Given the description of an element on the screen output the (x, y) to click on. 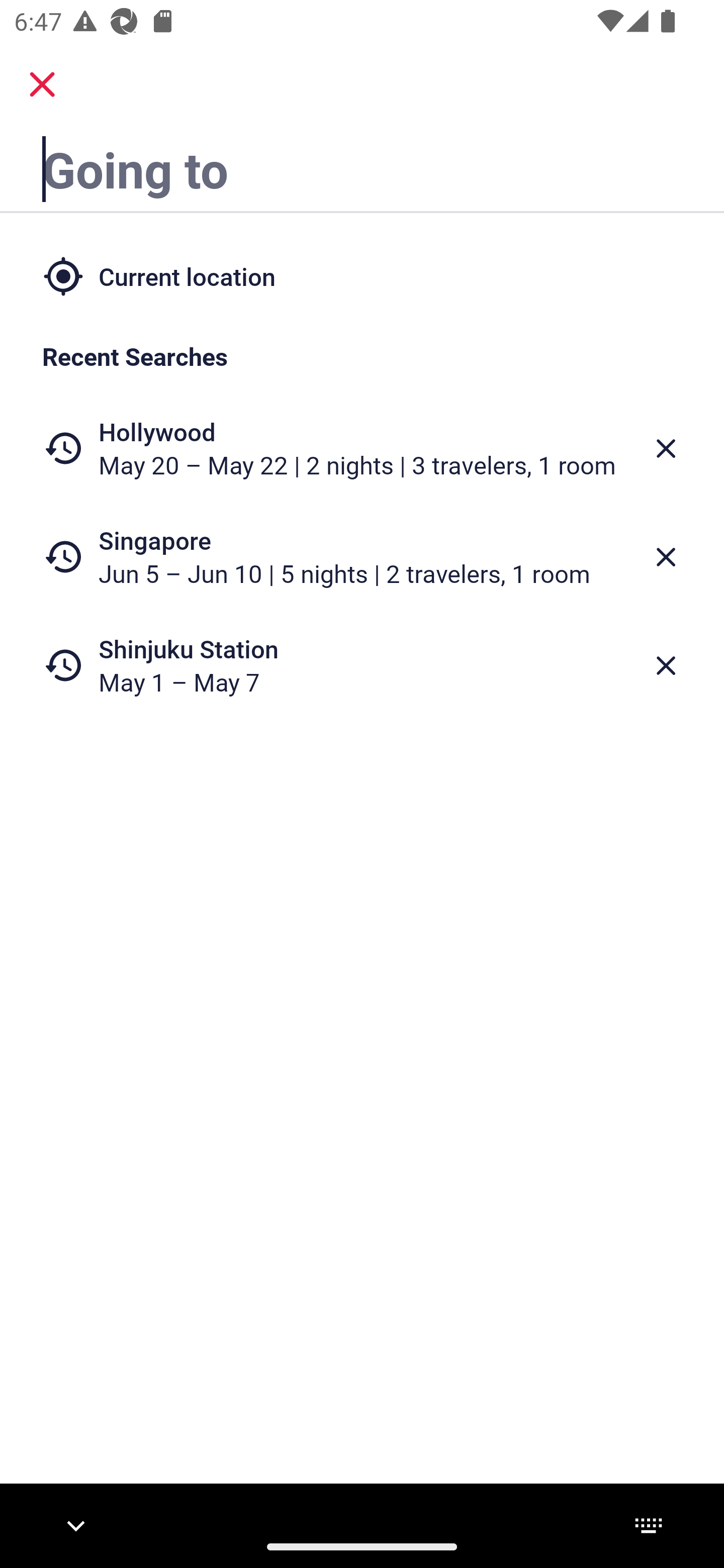
close. (42, 84)
Current location (362, 275)
Delete from recent searches (666, 448)
Delete from recent searches (666, 556)
Shinjuku Station May 1 – May 7 (362, 665)
Delete from recent searches (666, 666)
